Given the description of an element on the screen output the (x, y) to click on. 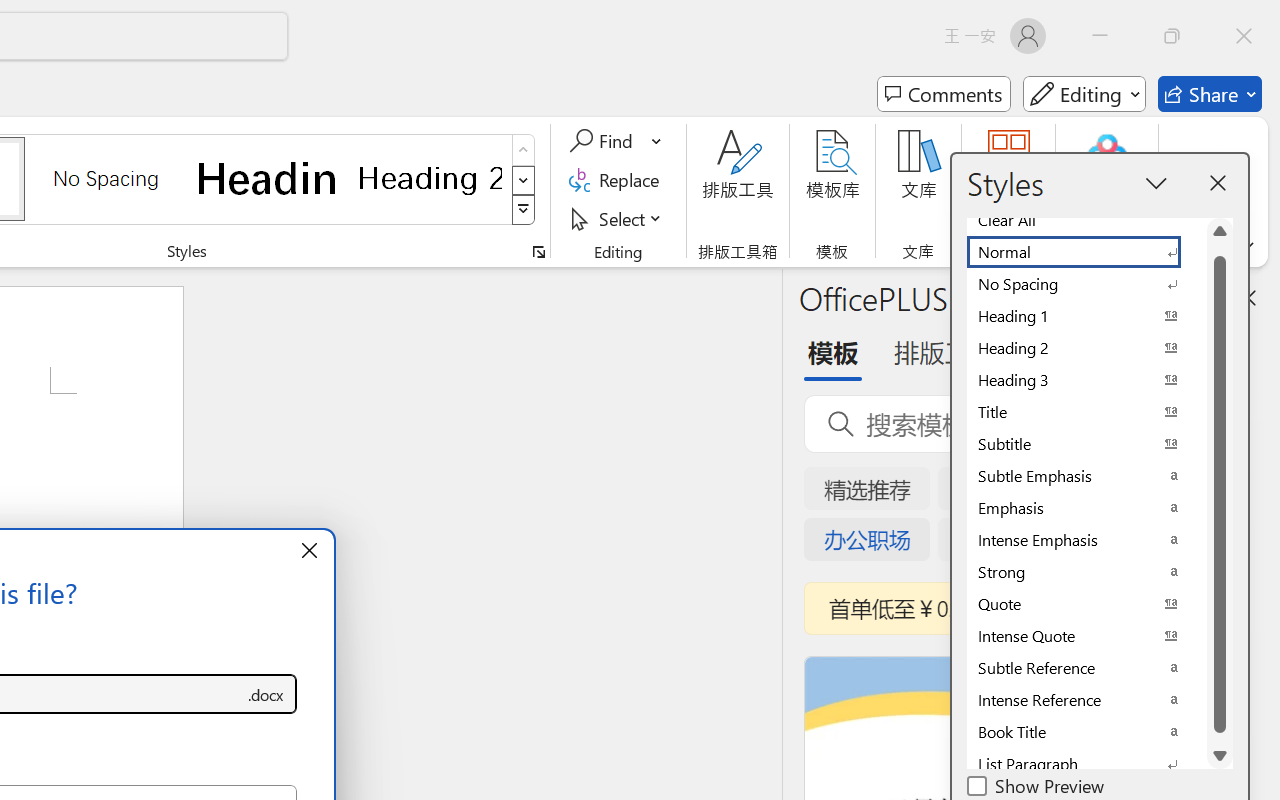
Task Pane Options (1186, 297)
Normal (1086, 252)
Restore Down (1172, 36)
Comments (943, 94)
Subtitle (1086, 443)
Ribbon Display Options (1246, 245)
Replace... (617, 179)
More Options (657, 141)
